Given the description of an element on the screen output the (x, y) to click on. 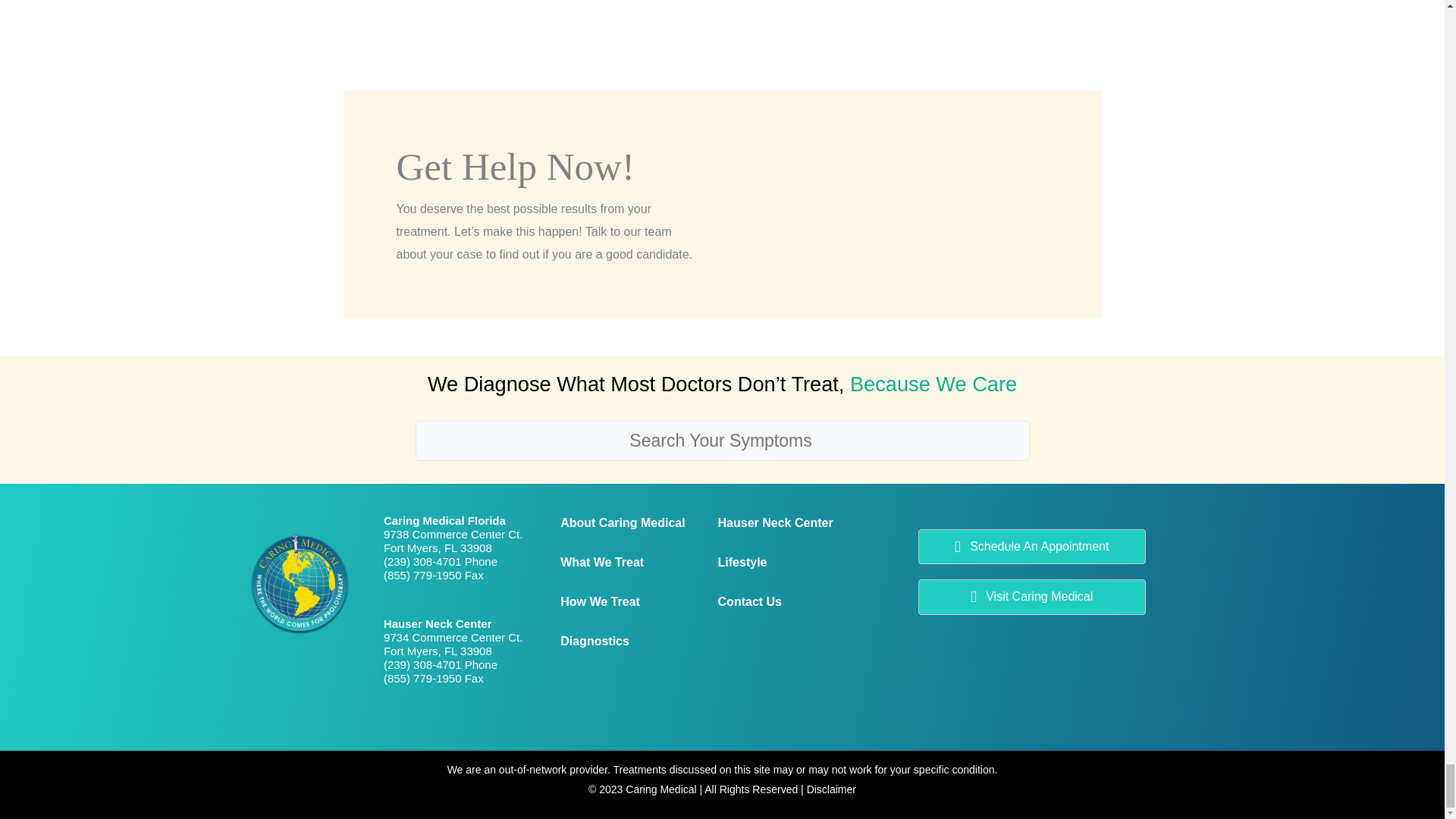
caring-medical-globe (299, 582)
